Given the description of an element on the screen output the (x, y) to click on. 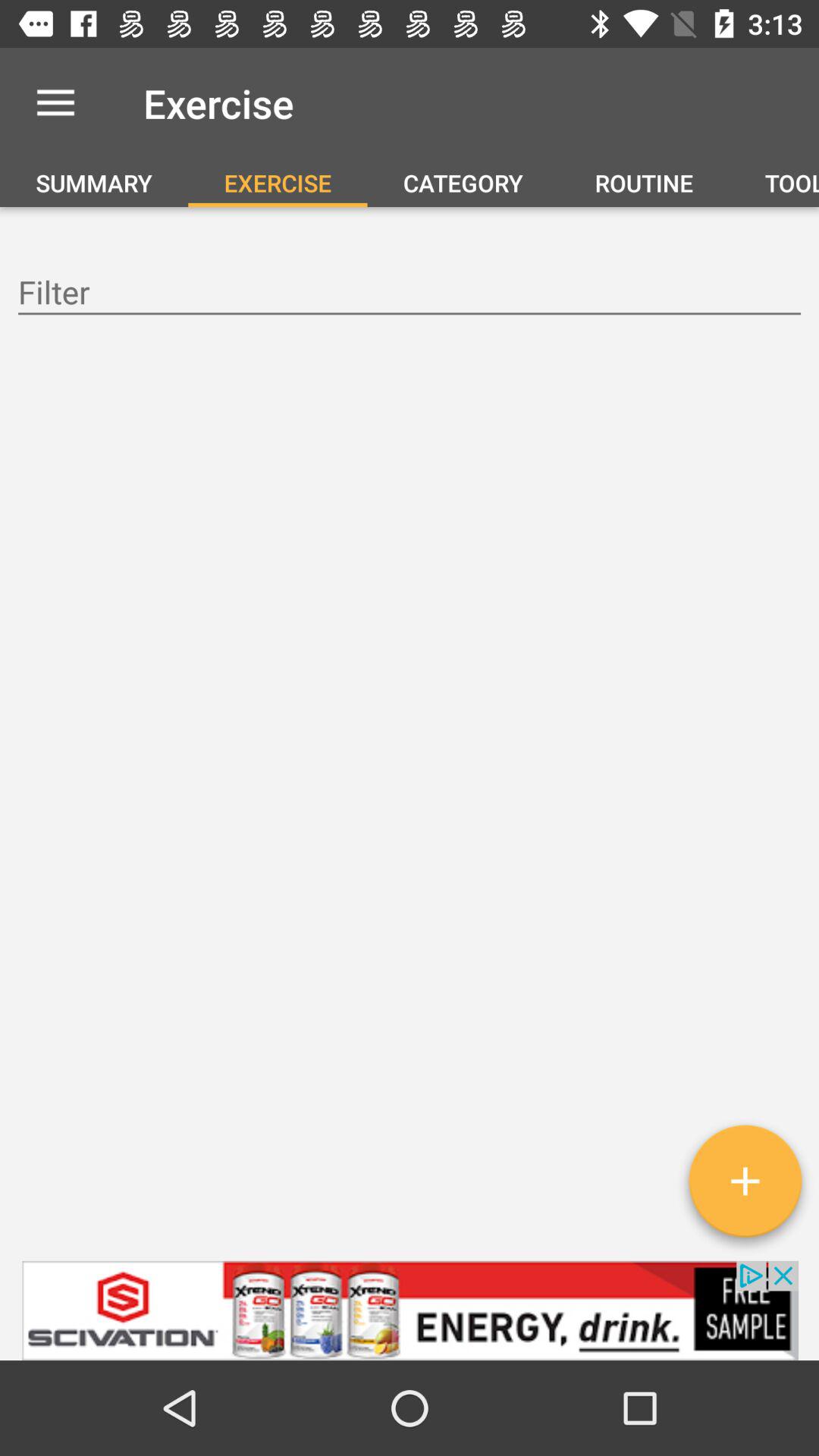
enter data (409, 294)
